Given the description of an element on the screen output the (x, y) to click on. 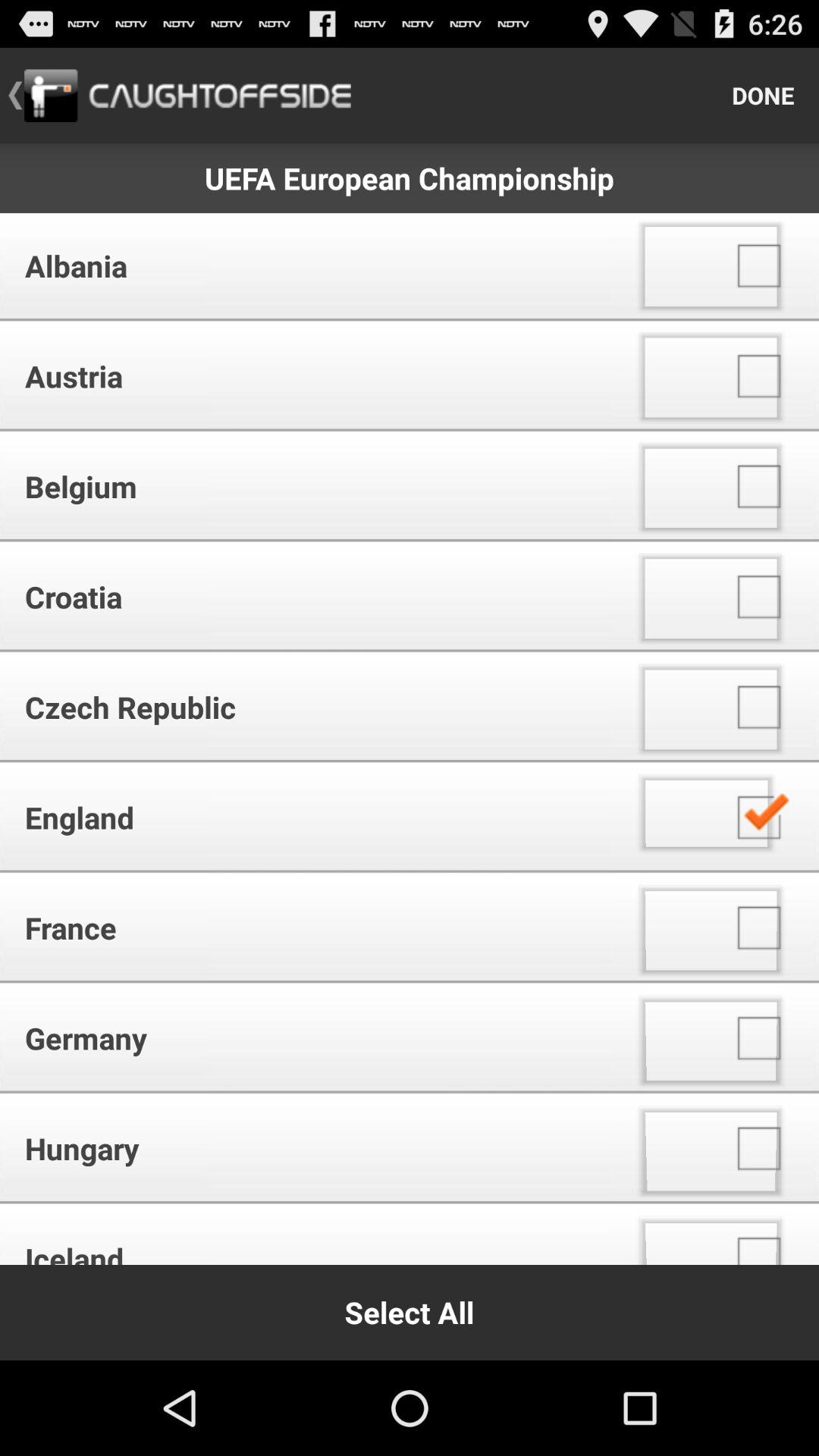
flip to done item (763, 95)
